Given the description of an element on the screen output the (x, y) to click on. 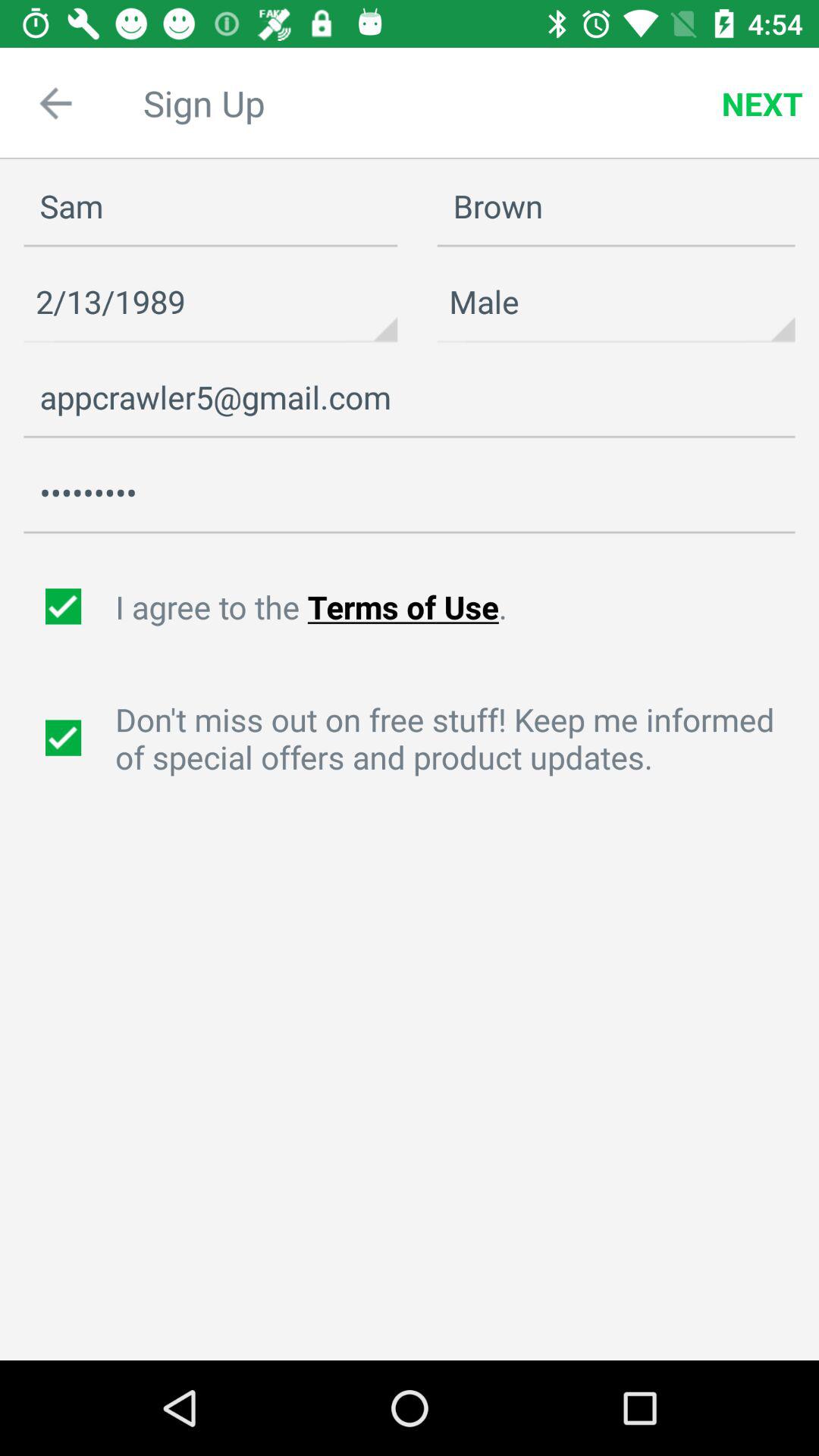
turn off the icon next to brown icon (210, 206)
